Given the description of an element on the screen output the (x, y) to click on. 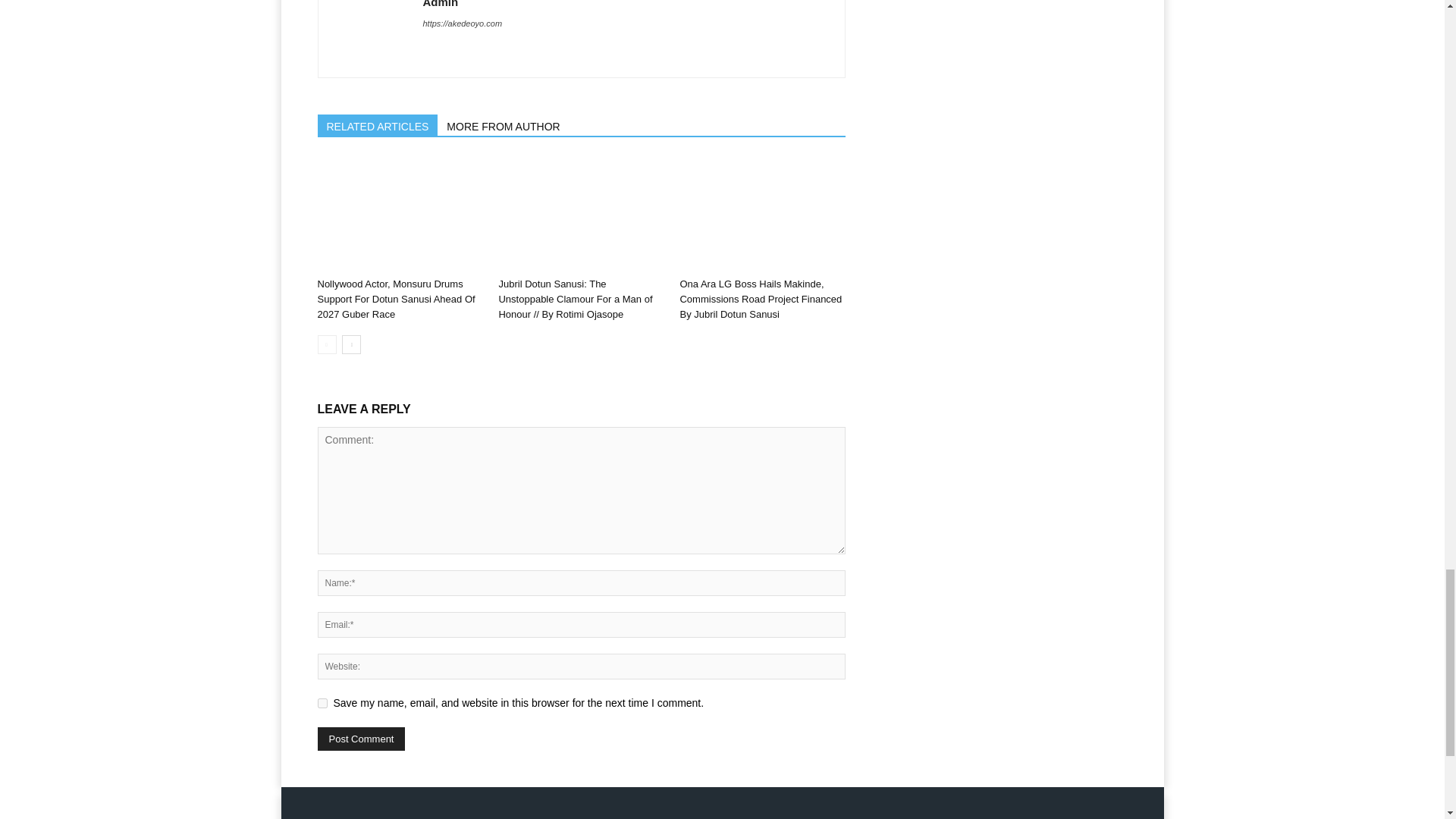
yes (321, 703)
MORE FROM AUTHOR (503, 124)
RELATED ARTICLES (377, 124)
Post Comment (360, 739)
Admin (440, 4)
